Given the description of an element on the screen output the (x, y) to click on. 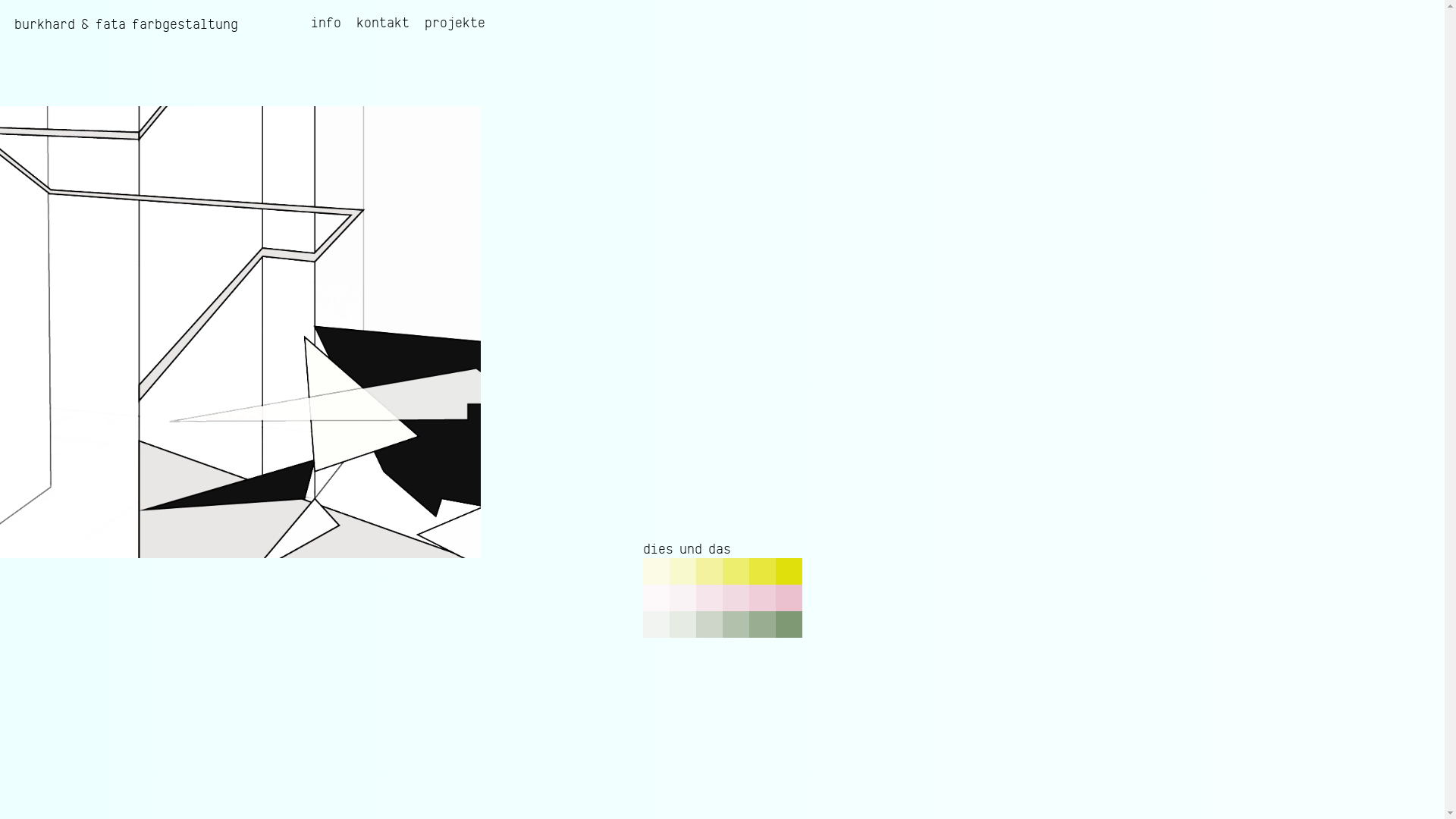
info Element type: text (325, 22)
dies und das Element type: text (687, 549)
projekte Element type: text (454, 22)
kontakt Element type: text (382, 22)
burkhard & fata farbgestaltung Element type: text (126, 24)
